Given the description of an element on the screen output the (x, y) to click on. 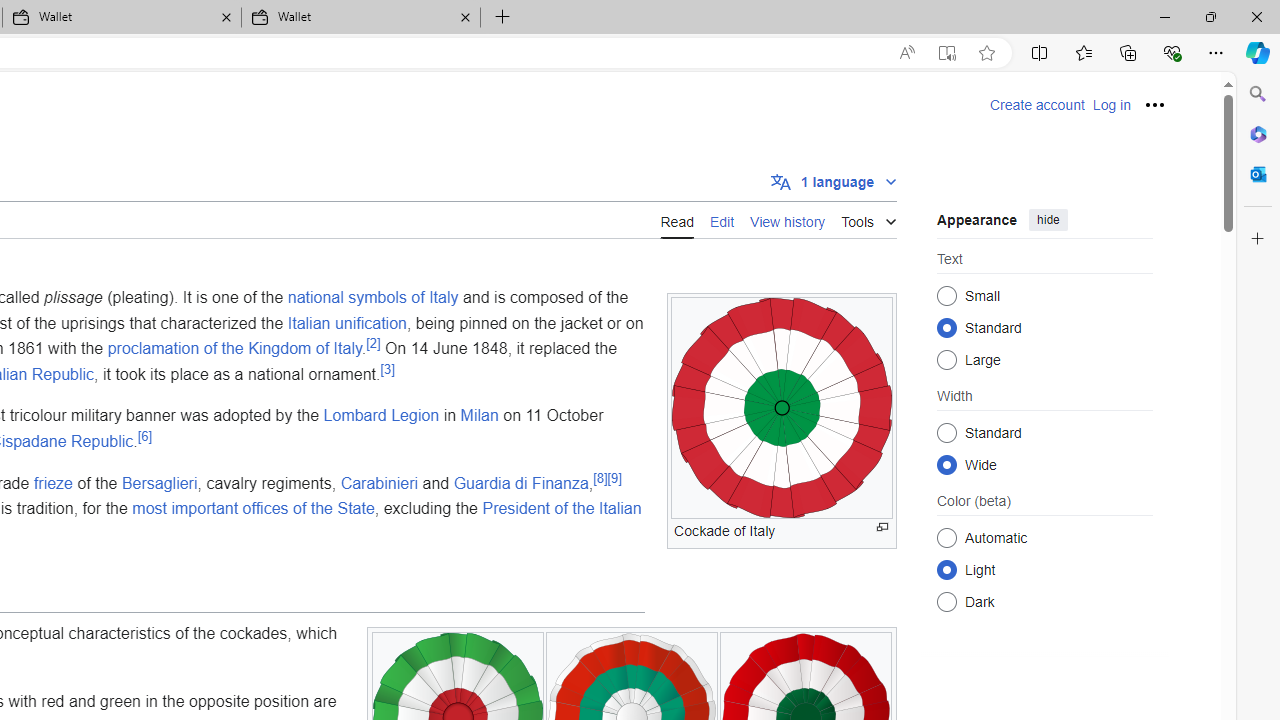
Wide (946, 464)
View history (787, 219)
[3] (387, 368)
most important offices of the State (253, 508)
Lombard Legion (381, 415)
View history (787, 219)
Edit (721, 219)
hide (1048, 219)
Milan (479, 415)
Personal tools (1155, 104)
Log in (1111, 105)
Guardia di Finanza (520, 482)
